Given the description of an element on the screen output the (x, y) to click on. 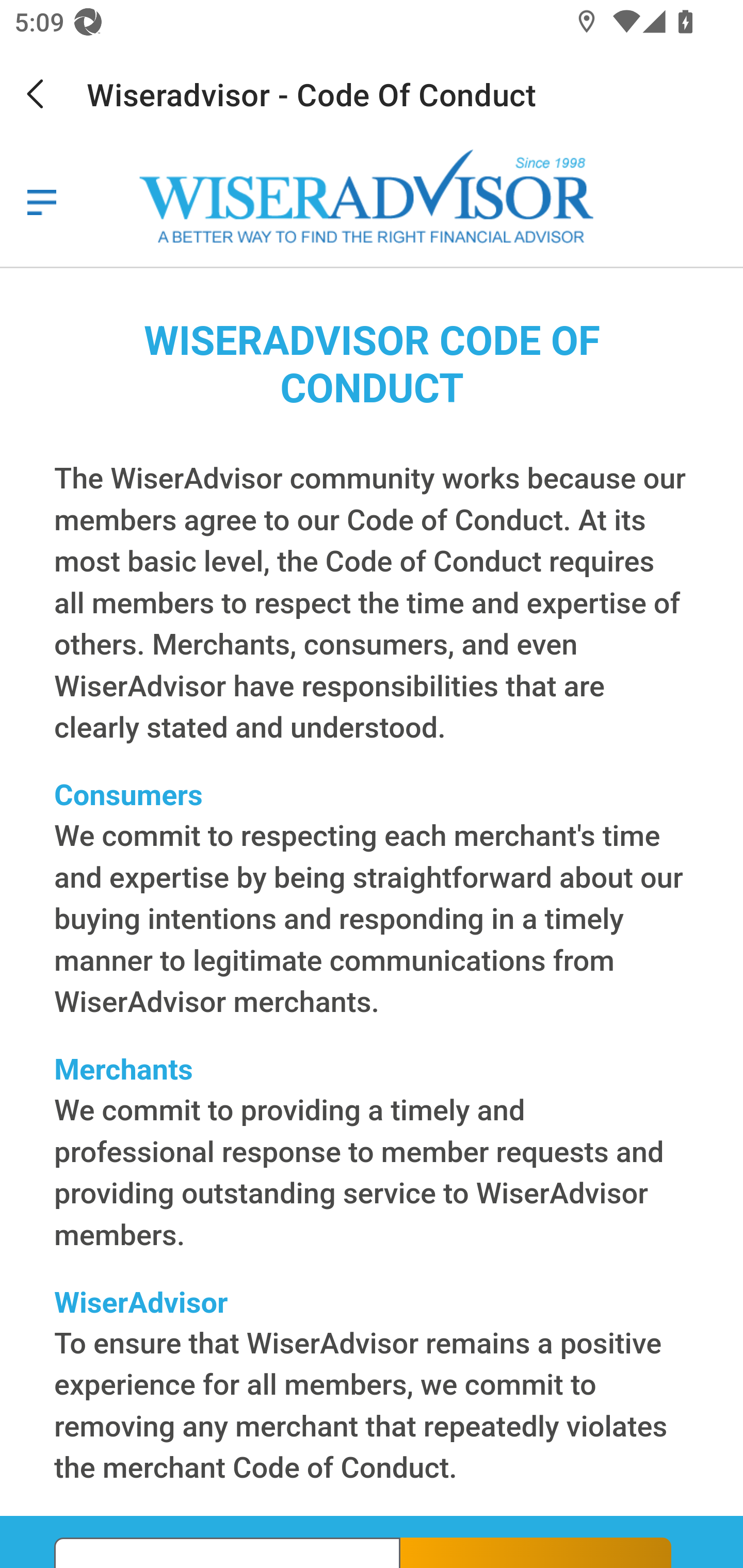
wiseradvisor (374, 198)
wiseradvisor (41, 202)
